Given the description of an element on the screen output the (x, y) to click on. 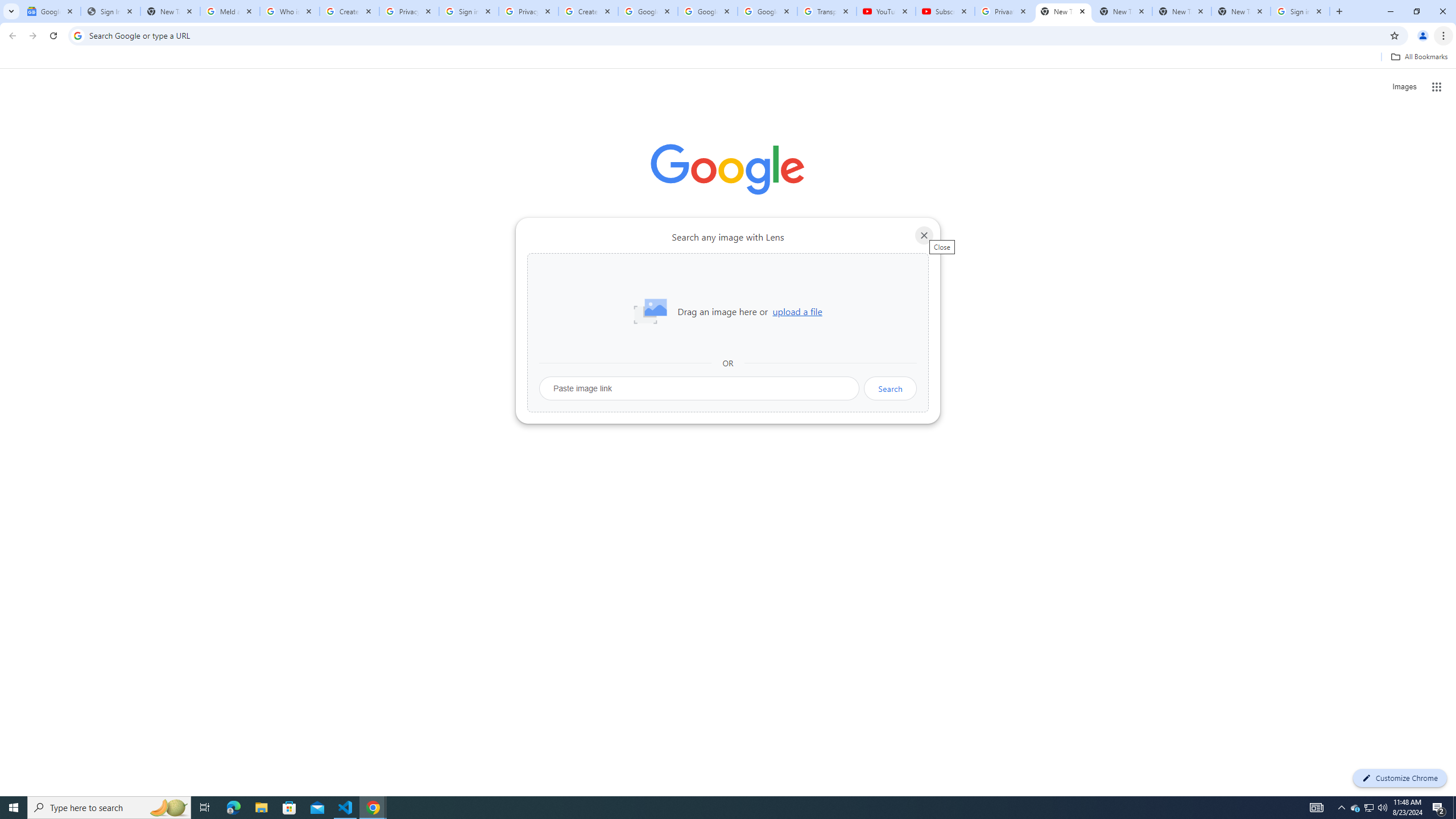
Chrome Web Store (663, 287)
New Tab (1241, 11)
YouTube (885, 11)
upload a file (796, 311)
